Given the description of an element on the screen output the (x, y) to click on. 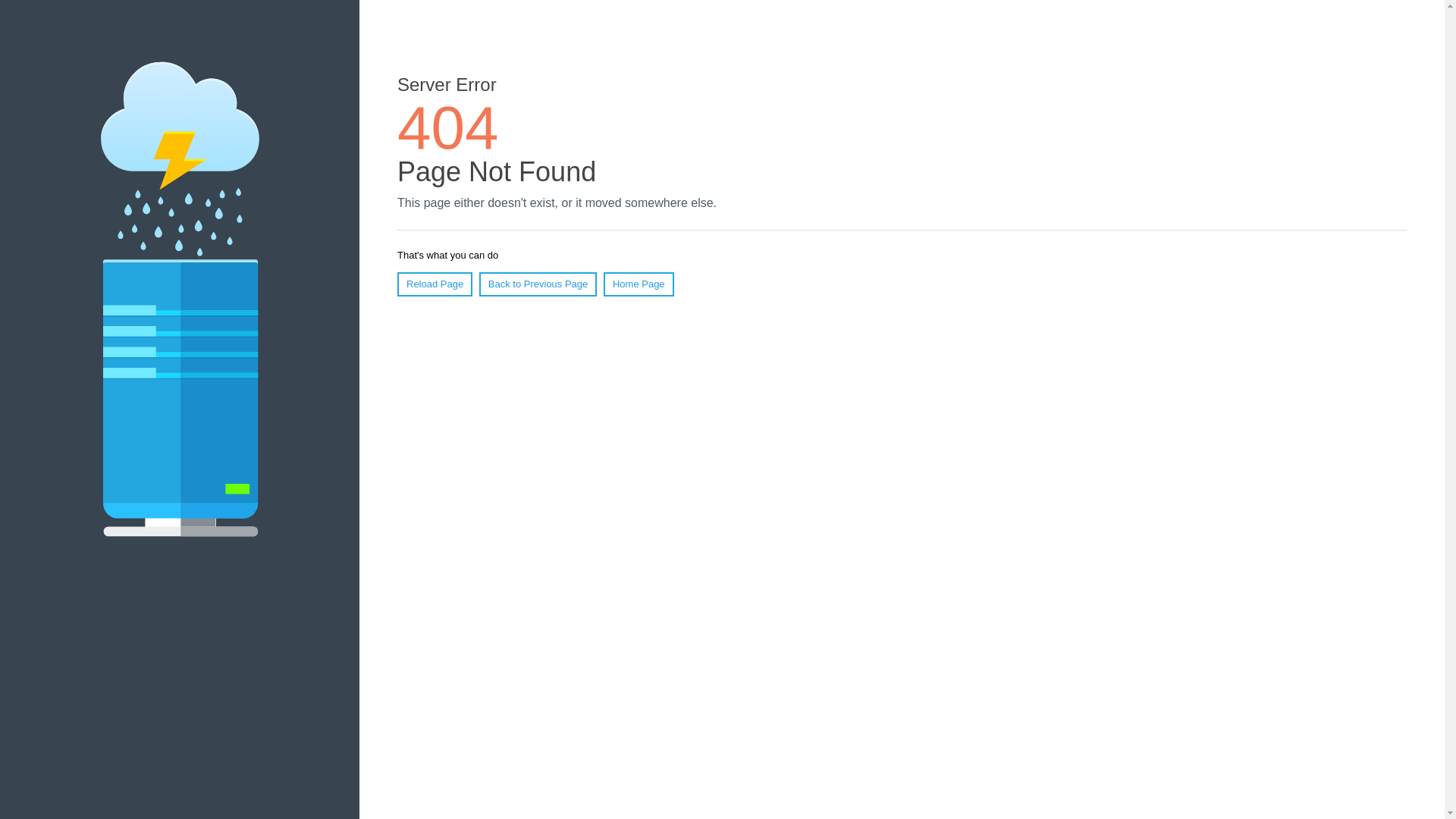
Reload Page Element type: text (434, 284)
Home Page Element type: text (638, 284)
Back to Previous Page Element type: text (538, 284)
